Given the description of an element on the screen output the (x, y) to click on. 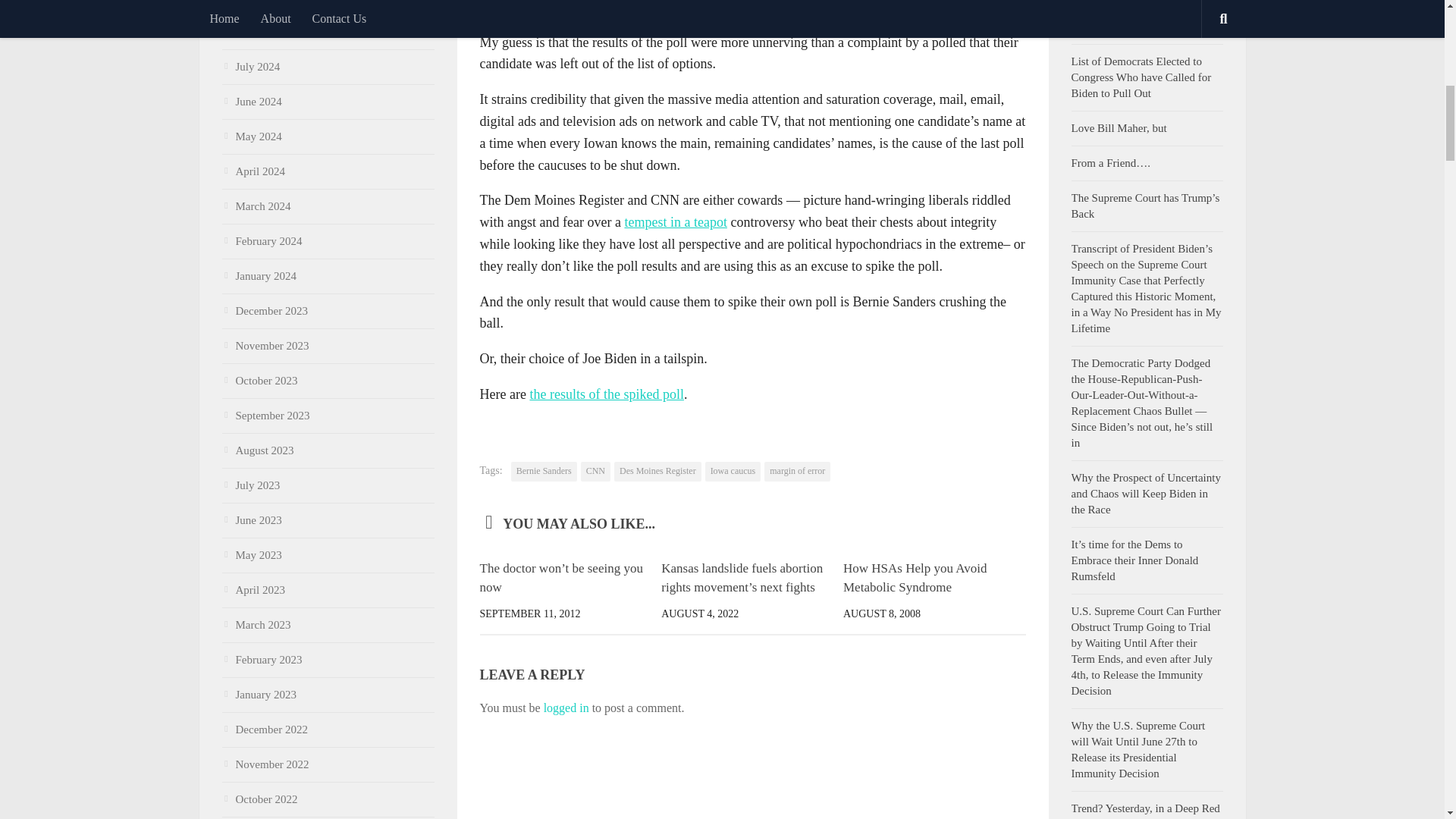
logged in (566, 707)
CNN (595, 471)
How HSAs Help you Avoid Metabolic Syndrome (915, 578)
Bernie Sanders (543, 471)
Des Moines Register (657, 471)
margin of error (796, 471)
the results of the spiked poll (605, 394)
Iowa caucus (732, 471)
tempest in a teapot (675, 222)
